Given the description of an element on the screen output the (x, y) to click on. 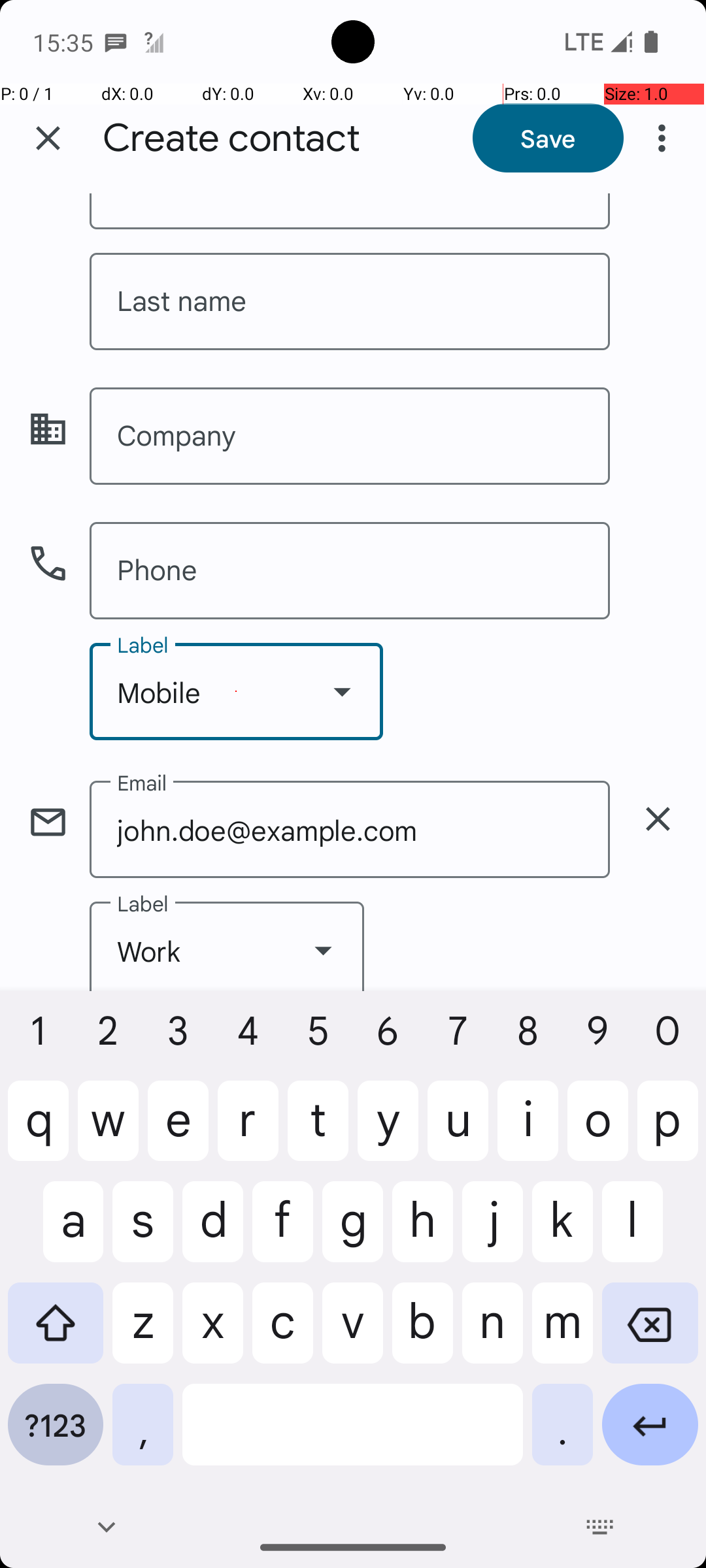
john.doe@example.com Element type: android.widget.EditText (349, 829)
Delete Work Email Element type: android.widget.FrameLayout (657, 818)
delete Element type: android.widget.ImageView (657, 818)
